Given the description of an element on the screen output the (x, y) to click on. 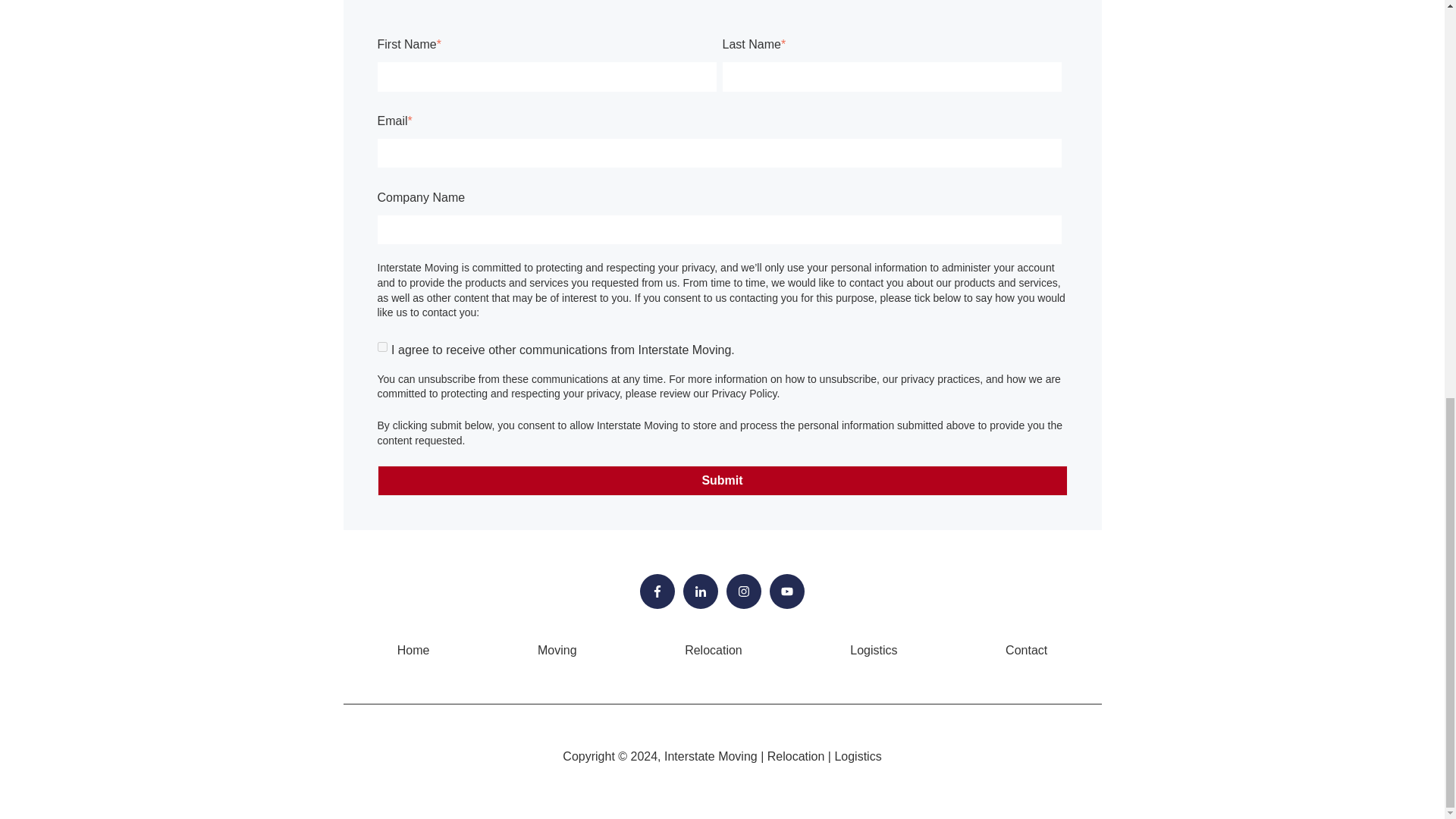
true (382, 347)
Home (413, 649)
Contact (1026, 649)
Submit (722, 481)
Logistics (873, 649)
Relocation (713, 649)
Moving (556, 649)
Submit (722, 481)
